Given the description of an element on the screen output the (x, y) to click on. 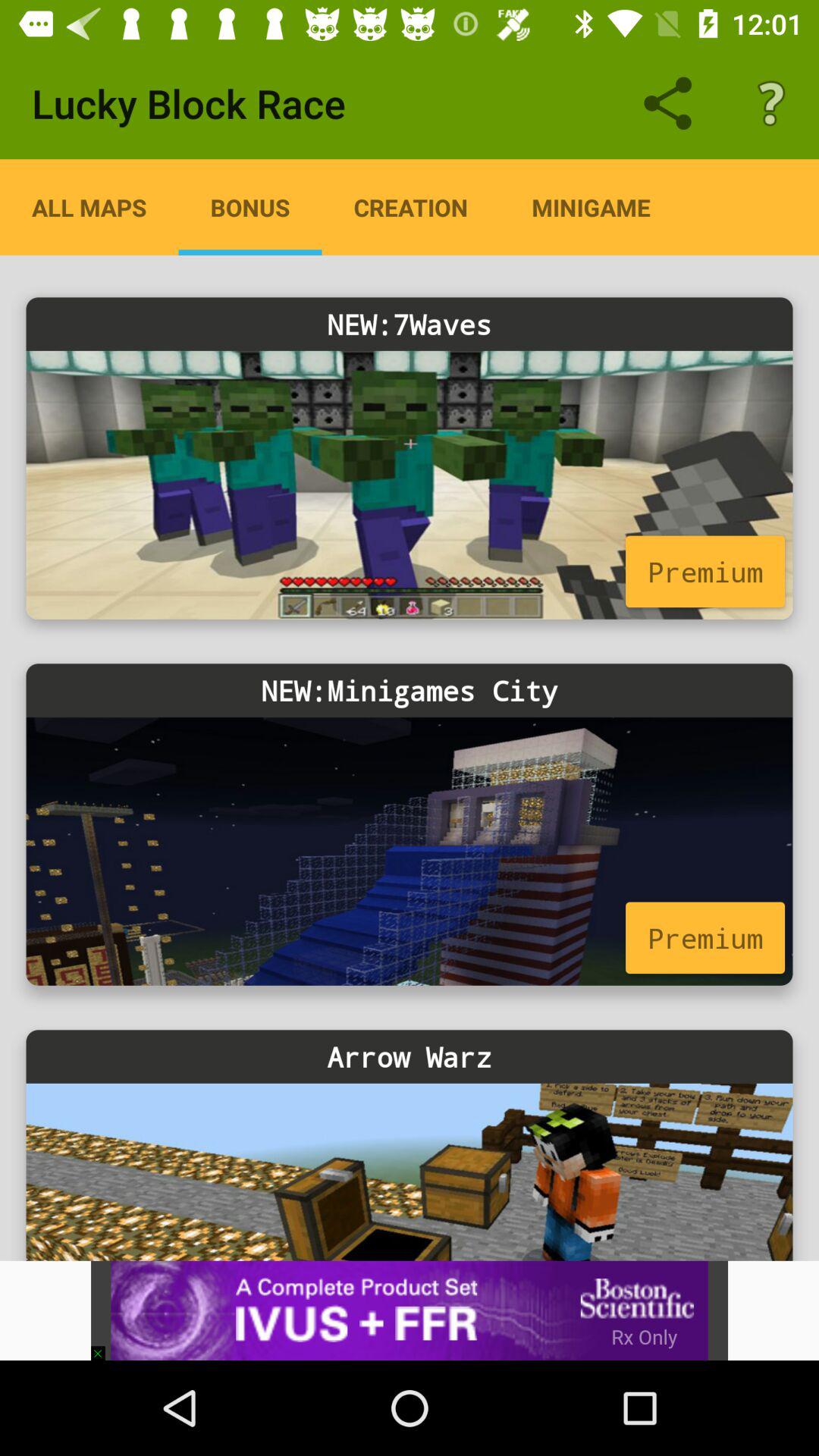
flip to the minigame item (590, 207)
